Given the description of an element on the screen output the (x, y) to click on. 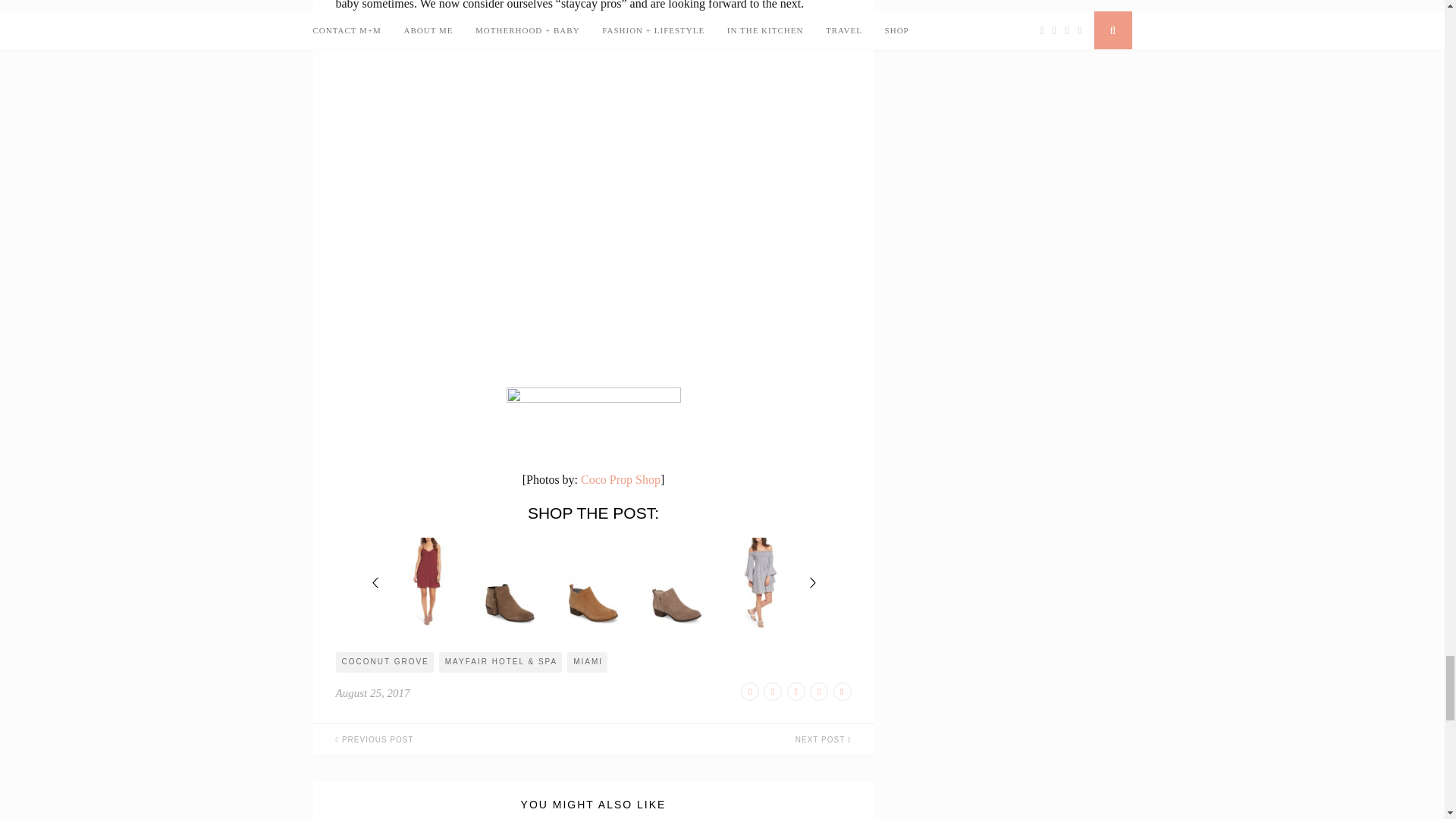
Coco Prop Shop (620, 479)
